Given the description of an element on the screen output the (x, y) to click on. 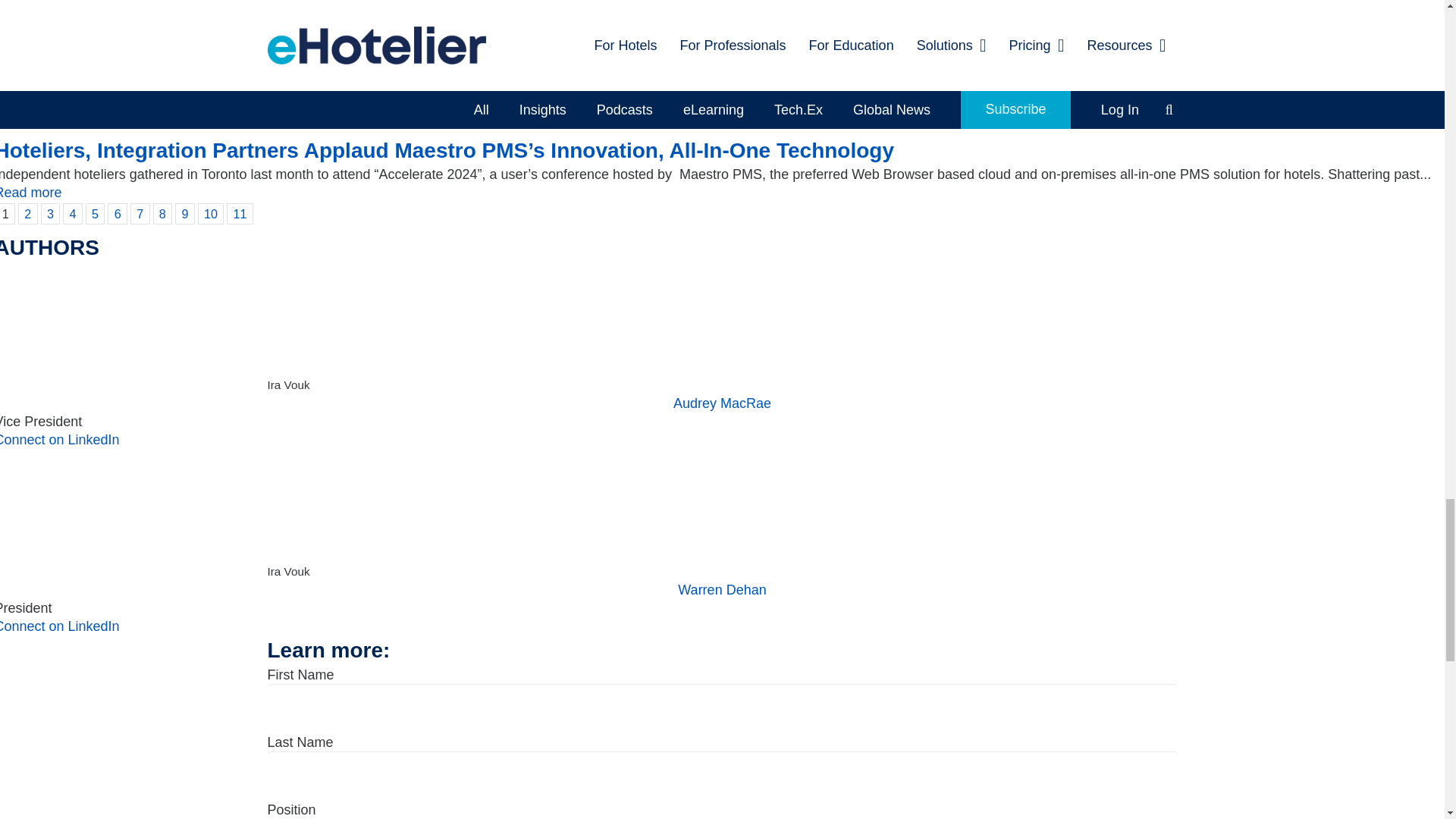
9 (184, 213)
Connect on LinkedIn (59, 439)
4 (72, 213)
11 (240, 213)
6 (117, 213)
3 (50, 213)
5 (94, 213)
8 (162, 213)
7 (140, 213)
10 (211, 213)
2 (27, 213)
Connect on LinkedIn (59, 626)
